Given the description of an element on the screen output the (x, y) to click on. 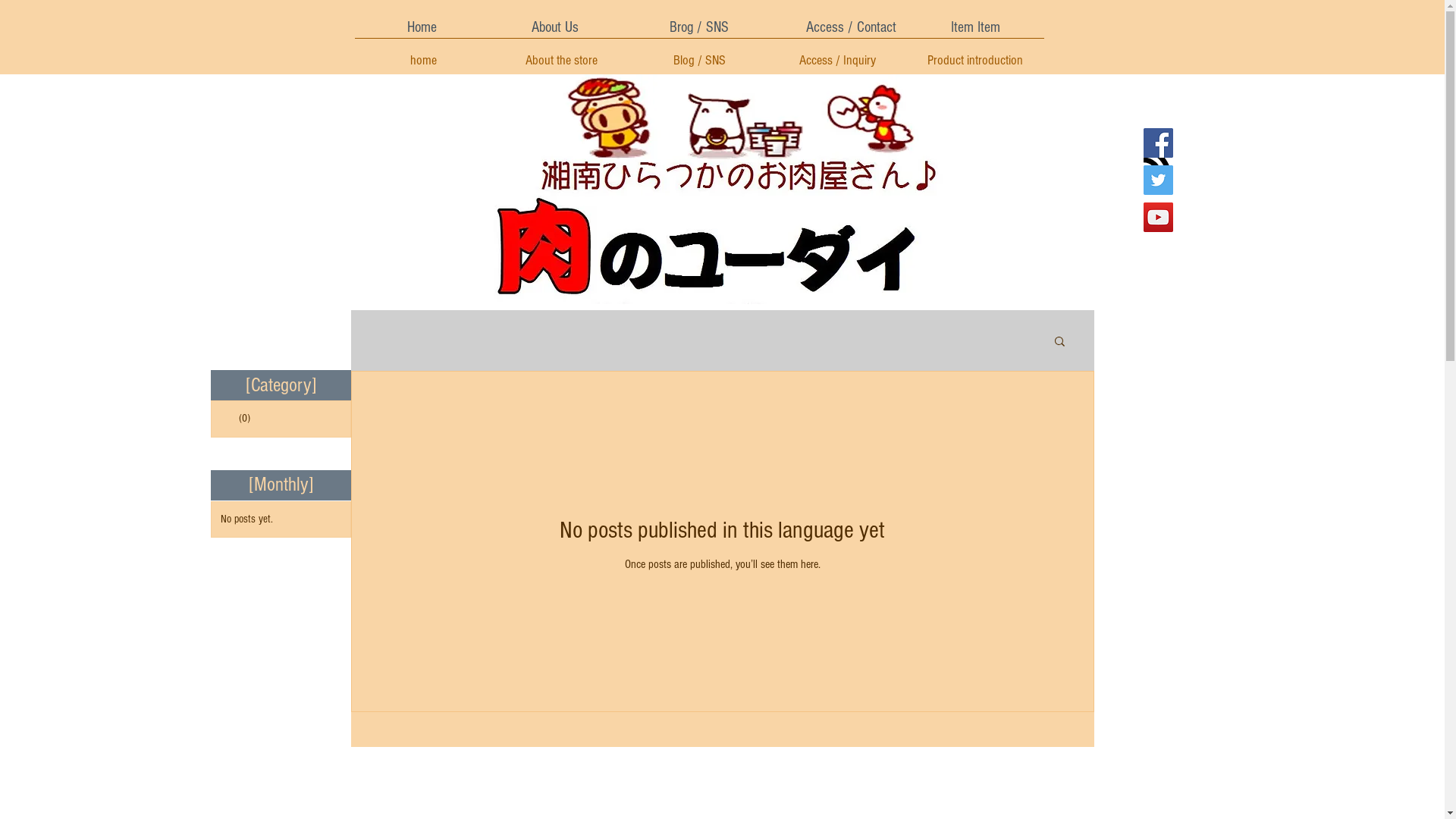
Home Element type: text (421, 26)
Product introduction Element type: text (975, 53)
Twitter Follow Element type: hover (1163, 302)
Access / Contact Element type: text (851, 26)
Item Item Element type: text (975, 26)
Access / Inquiry Element type: text (837, 53)
Brog / SNS Element type: text (699, 26)
About the store Element type: text (561, 53)
About Us Element type: text (555, 26)
home Element type: text (423, 53)
